Given the description of an element on the screen output the (x, y) to click on. 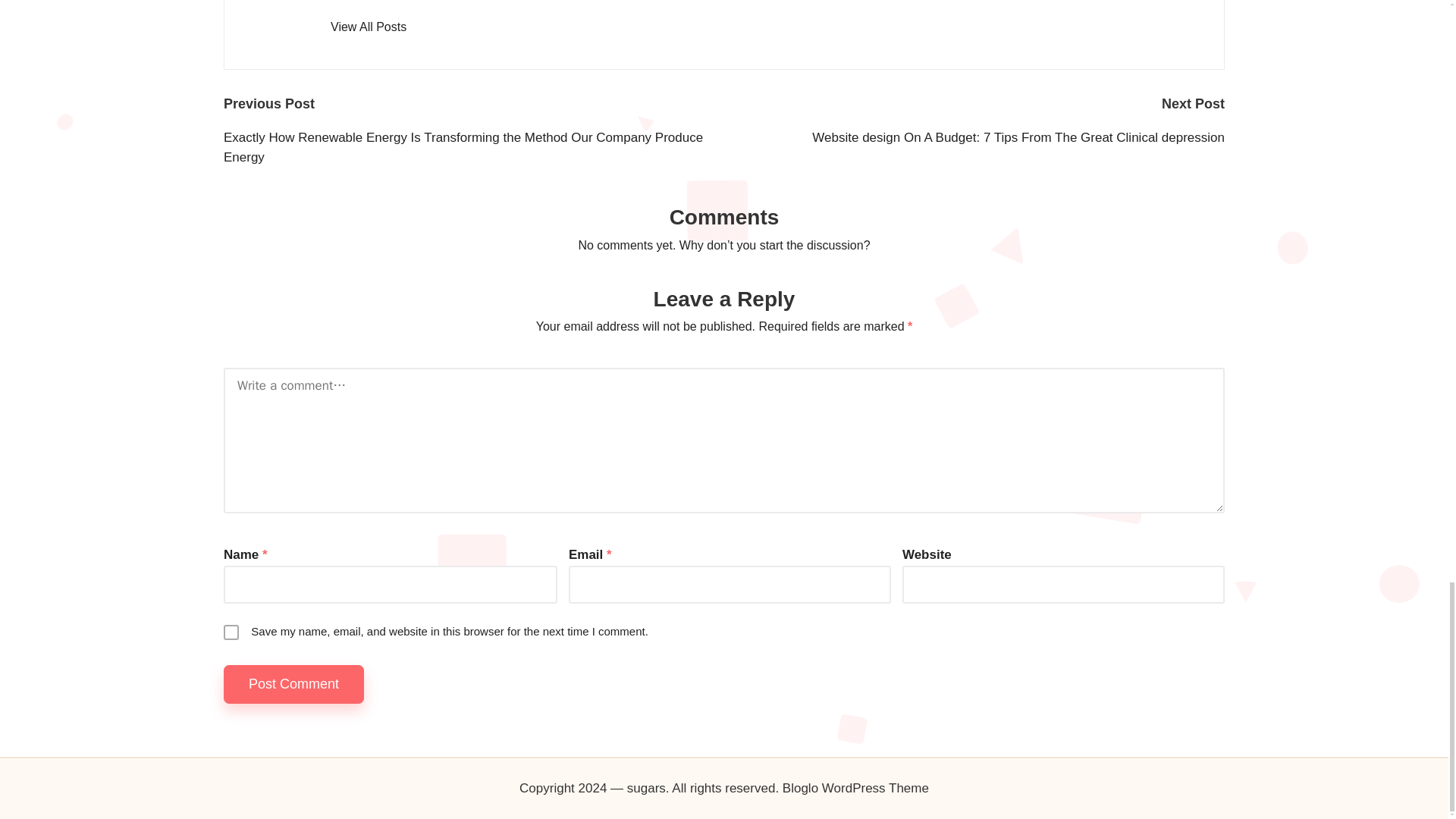
Post Comment (294, 684)
View All Posts (368, 27)
Post Comment (294, 684)
yes (231, 631)
admin (357, 1)
Bloglo WordPress Theme (855, 788)
